Given the description of an element on the screen output the (x, y) to click on. 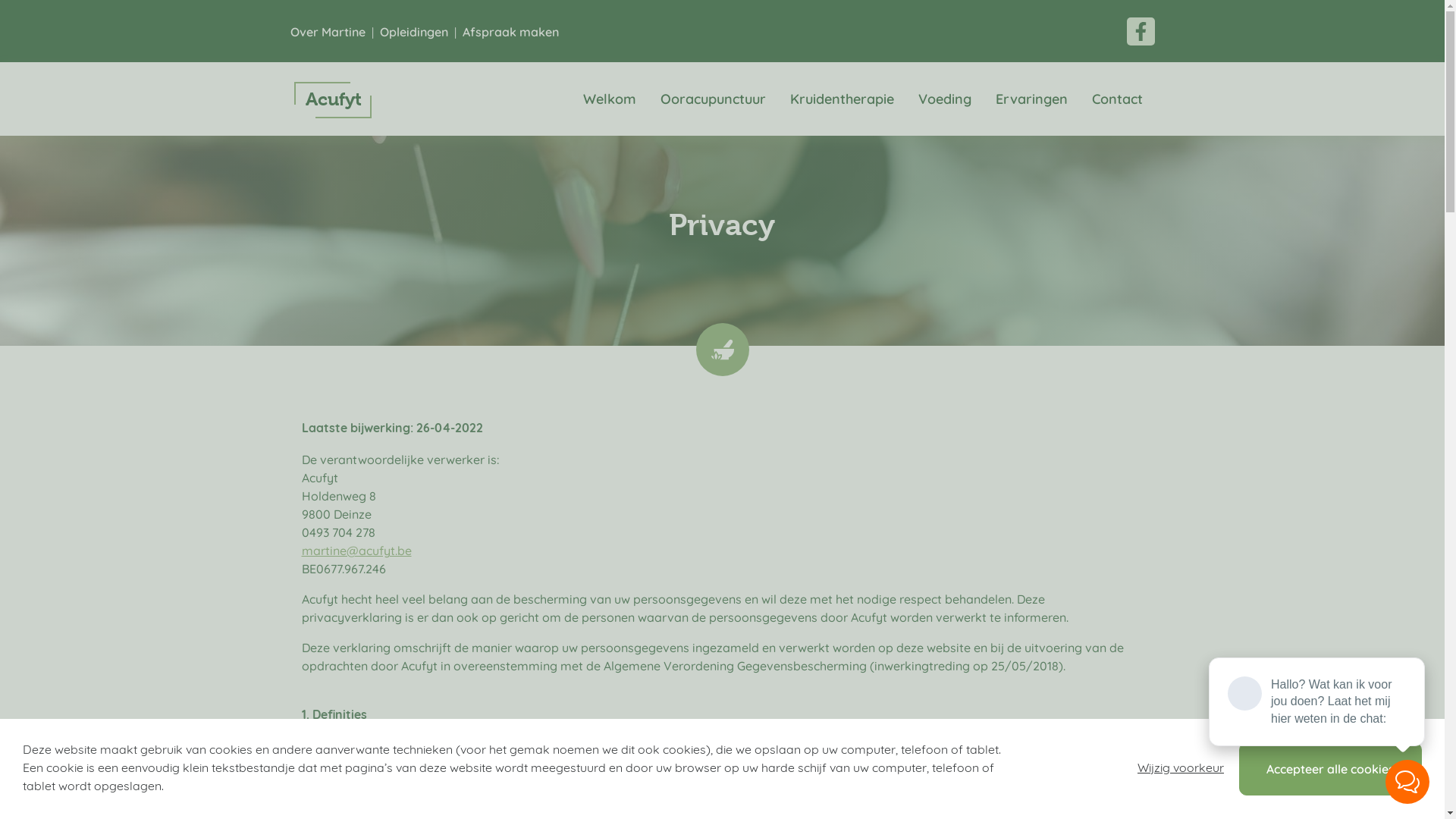
www.acufyt.be Element type: text (1085, 745)
Contact Element type: text (1117, 98)
Welkom Element type: text (608, 98)
Over Martine Element type: text (326, 31)
martine@acufyt.be Element type: text (356, 550)
Opleidingen Element type: text (413, 31)
Ervaringen Element type: text (1030, 98)
Kruidentherapie Element type: text (842, 98)
Ooracupunctuur Element type: text (712, 98)
Afspraak maken Element type: text (510, 31)
Acufyt Element type: text (332, 98)
Voeding Element type: text (943, 98)
